Given the description of an element on the screen output the (x, y) to click on. 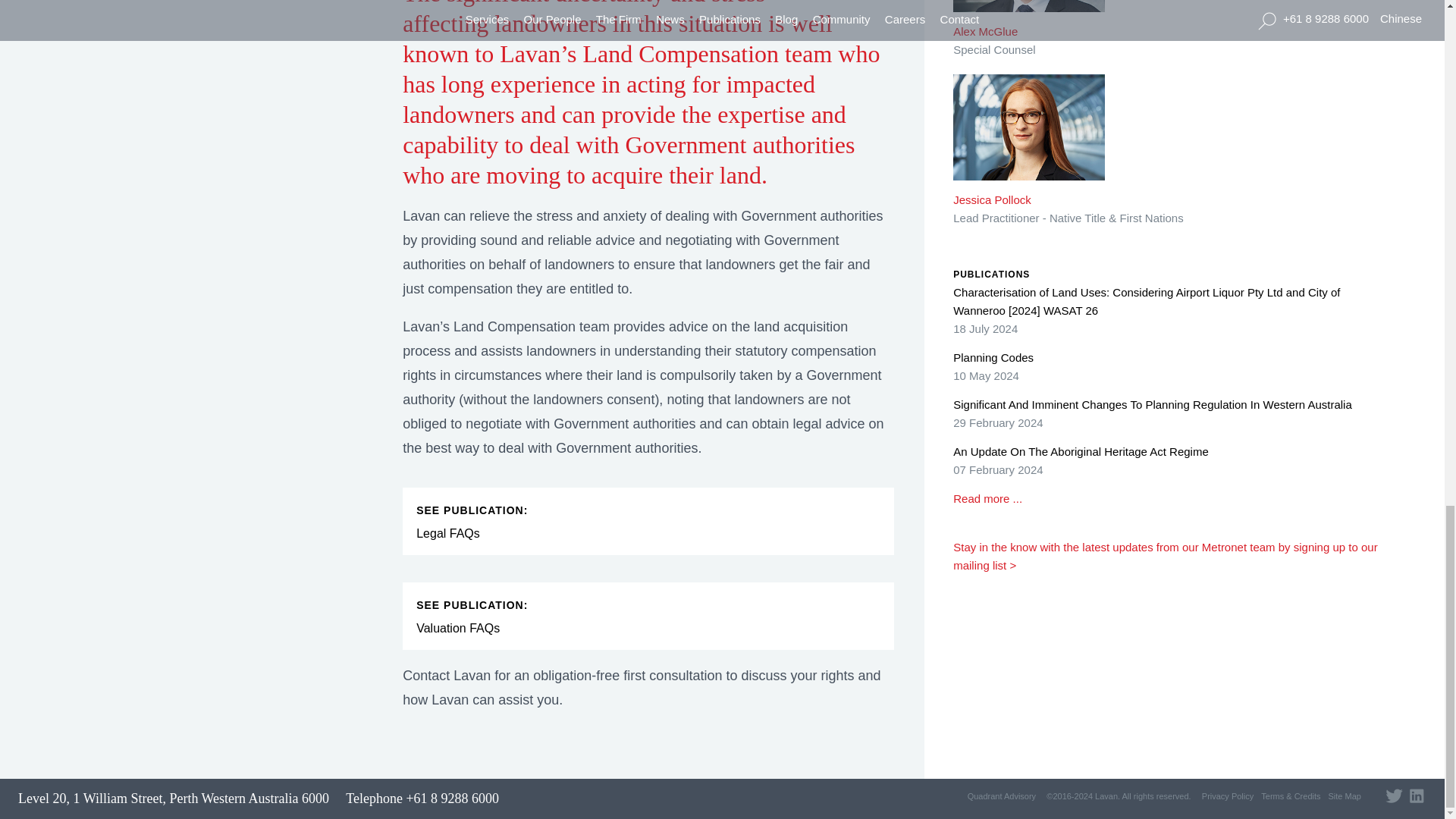
AlexMcGlue2.jpg (1029, 16)
JessicaPollock-JLP-2800x1800.jpg (1029, 137)
